Given the description of an element on the screen output the (x, y) to click on. 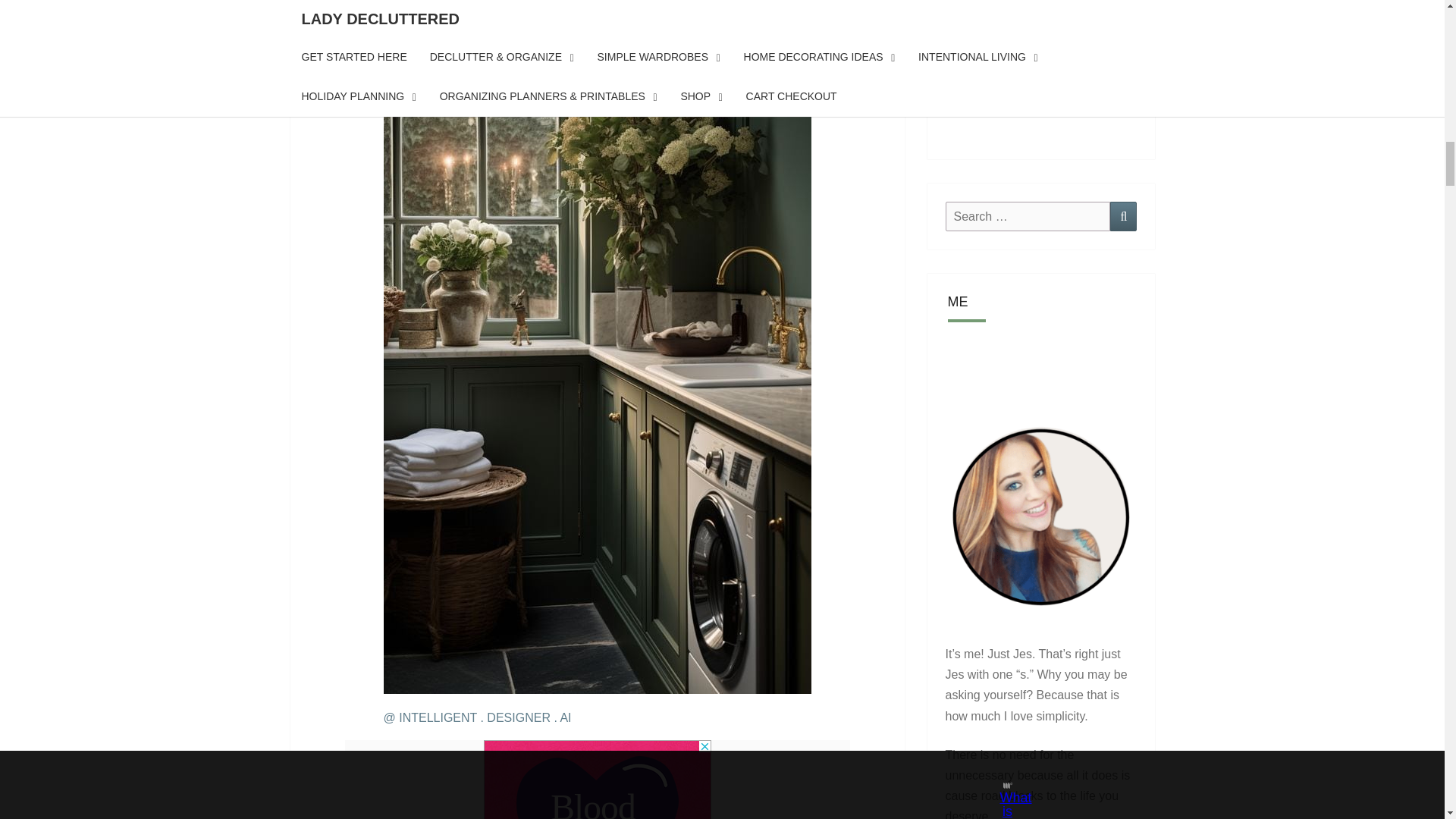
Search for: (1026, 215)
3rd party ad content (597, 779)
